Given the description of an element on the screen output the (x, y) to click on. 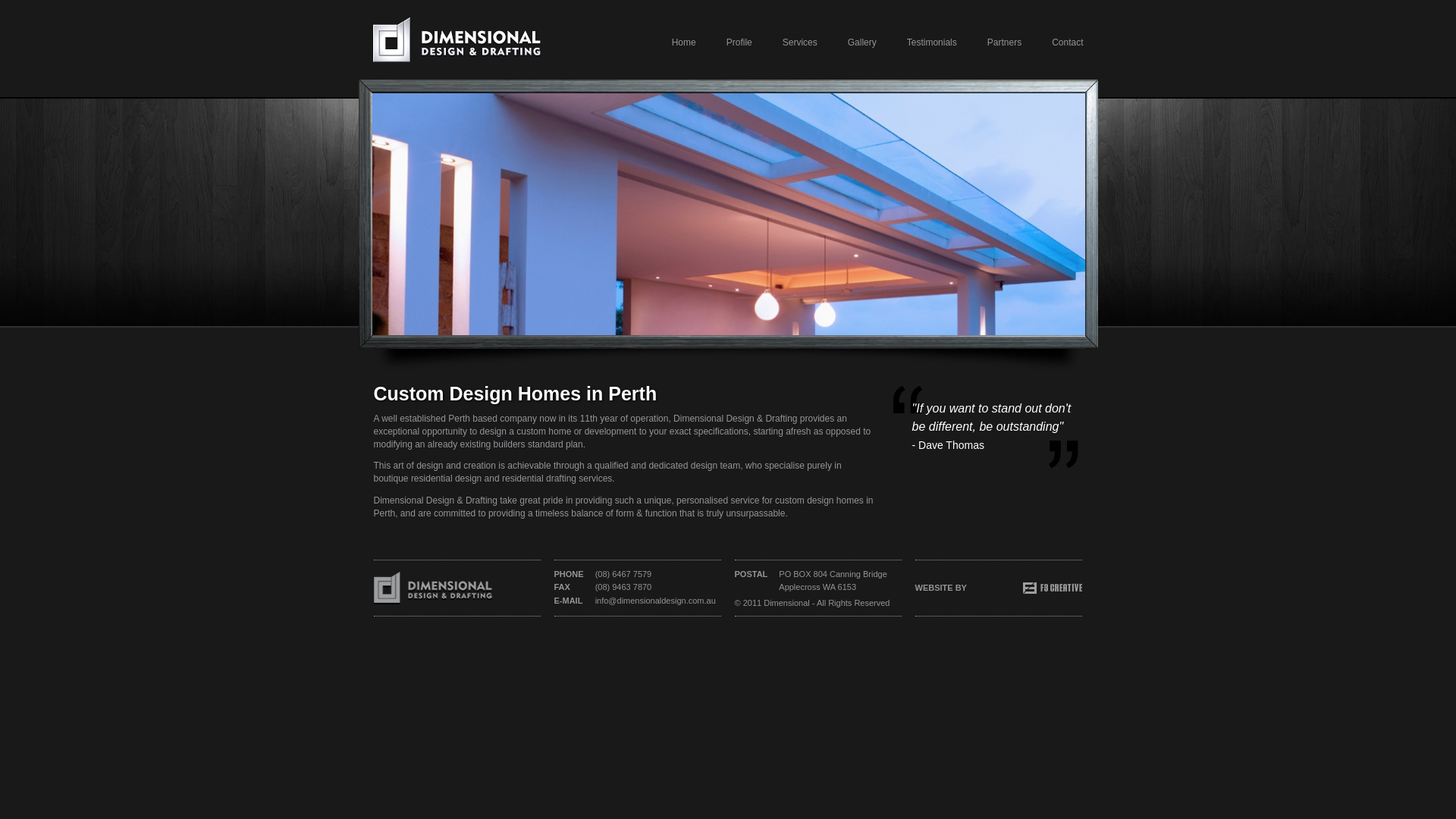
  Element type: text (433, 587)
Gallery Element type: text (846, 42)
WEBSITE BY Element type: text (997, 588)
Profile Element type: text (724, 42)
Testimonials Element type: text (916, 42)
Partners Element type: text (989, 42)
info@dimensionaldesign.com.au Element type: text (655, 600)
Services Element type: text (784, 42)
Home Element type: text (668, 42)
Contact Element type: text (1051, 42)
